Given the description of an element on the screen output the (x, y) to click on. 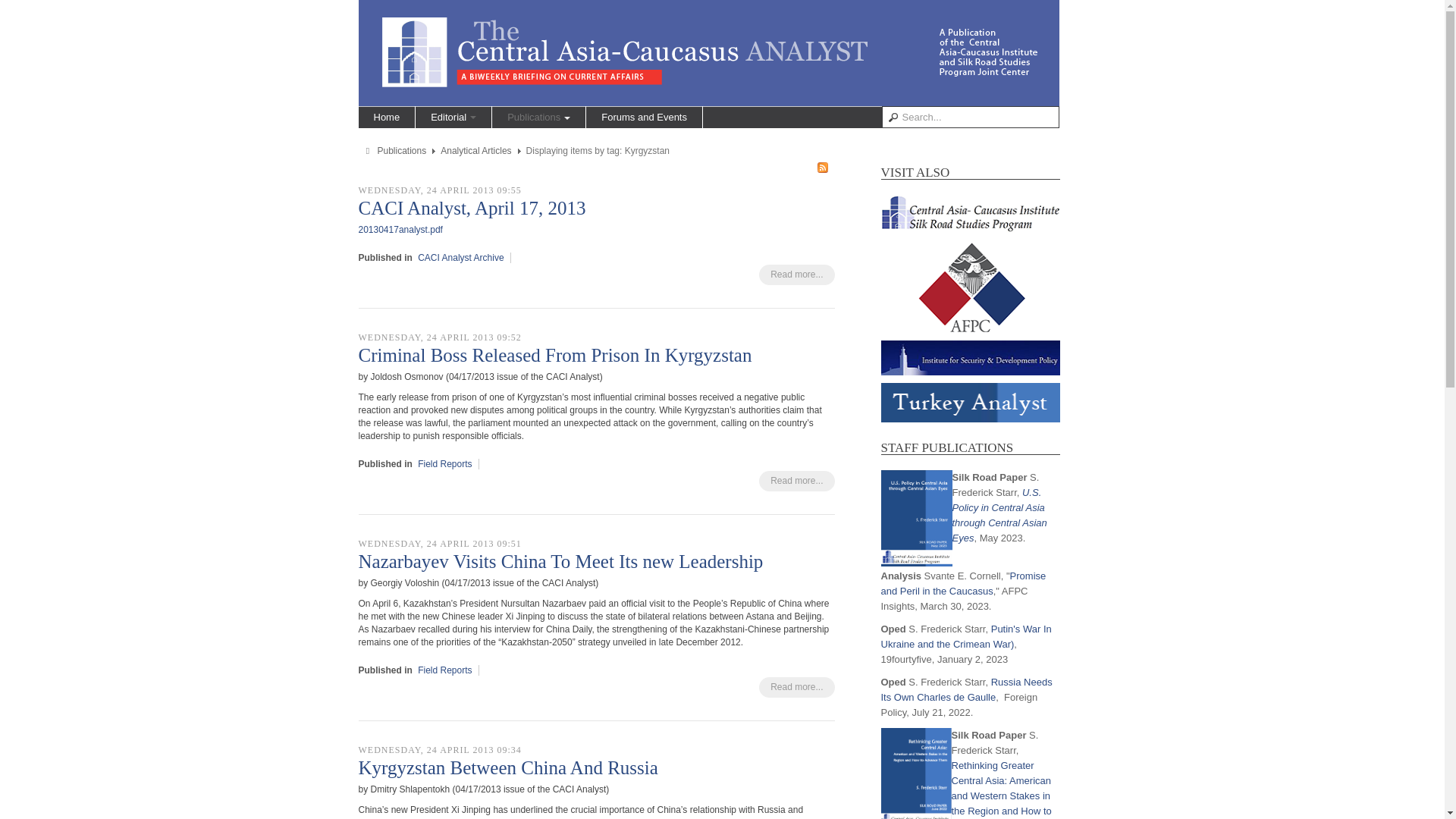
CACI Analyst, April 17, 2013 (471, 208)
Publications (401, 150)
Read more... (796, 687)
Analytical Articles (476, 150)
Publications (538, 117)
Criminal Boss Released From Prison In Kyrgyzstan (554, 354)
Nazarbayev Visits China To Meet Its new Leadership (560, 561)
Kyrgyzstan Between China And Russia (508, 767)
CACI Analyst Archive (460, 257)
20130417analyst.pdf (400, 229)
You are here:  (368, 151)
Editorial (453, 117)
Forums and Events (643, 117)
Field Reports (444, 463)
Read more... (796, 274)
